Given the description of an element on the screen output the (x, y) to click on. 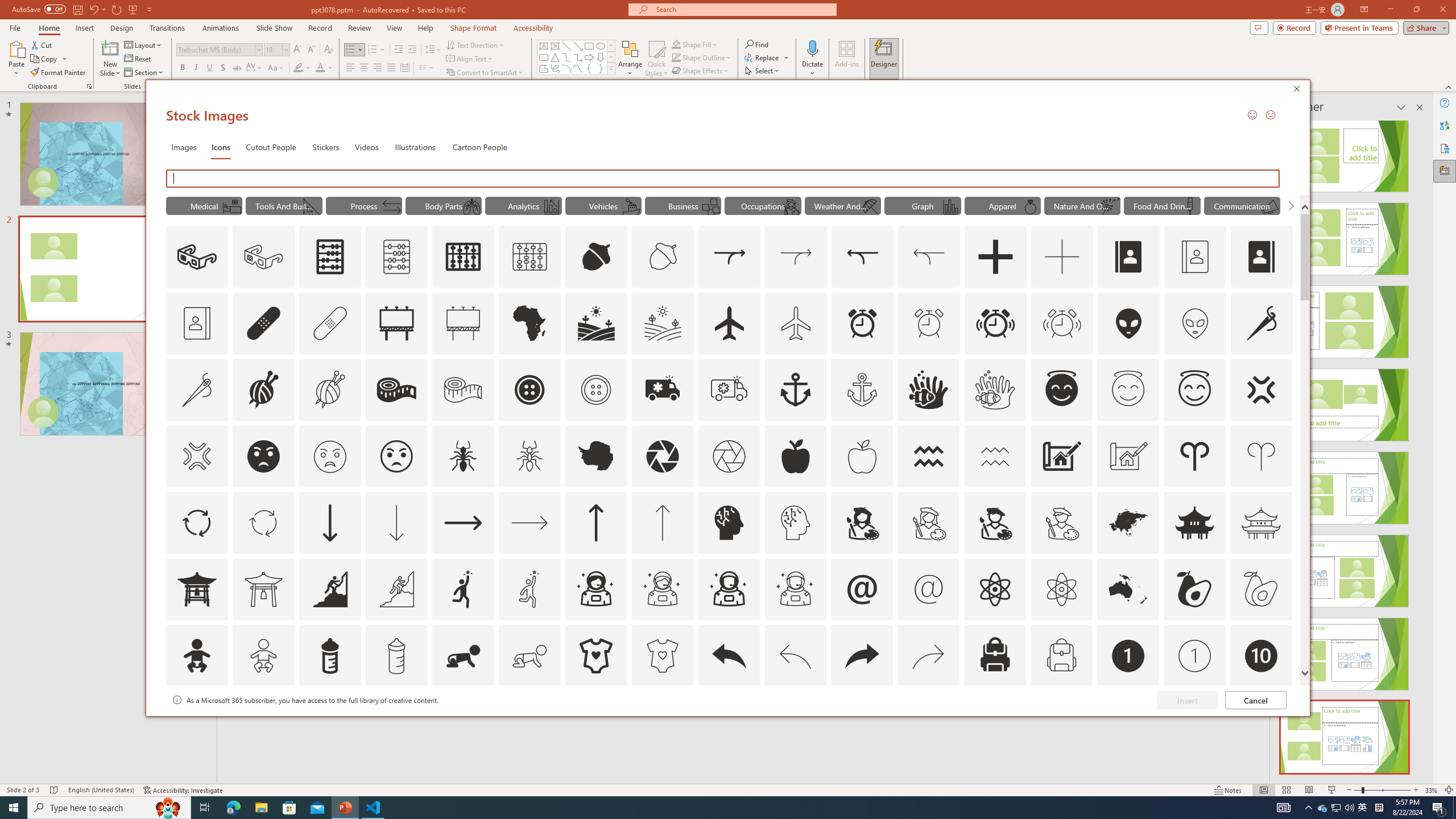
AutomationID: Icons_AstronautMale (729, 588)
AutomationID: Icons_Megaphone_M (1269, 206)
AutomationID: Icons_BabyBottle (329, 655)
AutomationID: Icons_Add_M (1062, 256)
AutomationID: Icons_BabyOnesie_M (662, 655)
AutomationID: Icons_Atom (995, 588)
AutomationID: Icons_AlterationsTailoring3 (529, 389)
